Given the description of an element on the screen output the (x, y) to click on. 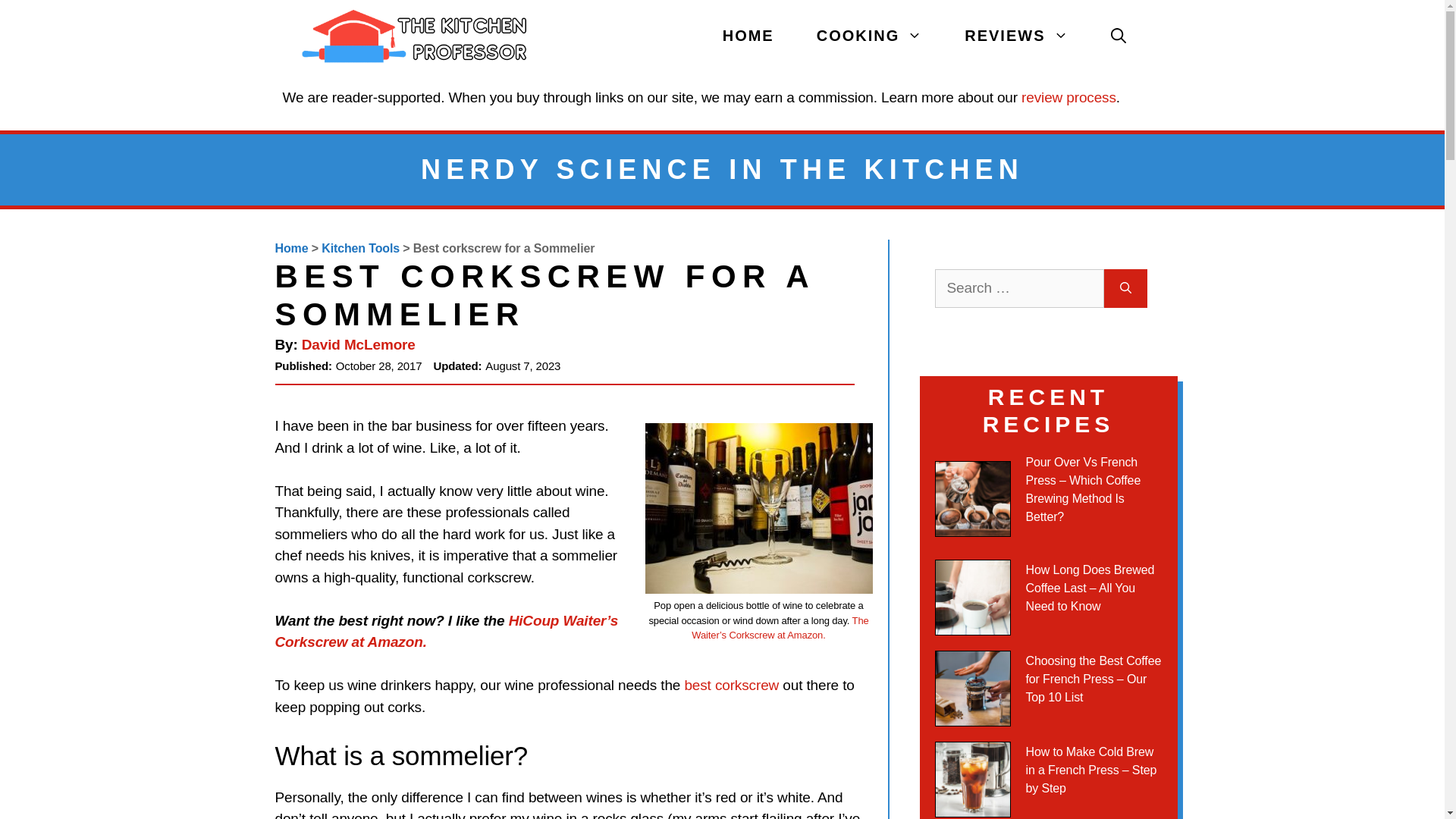
REVIEWS (1016, 36)
HOME (747, 36)
COOKING (868, 36)
